Given the description of an element on the screen output the (x, y) to click on. 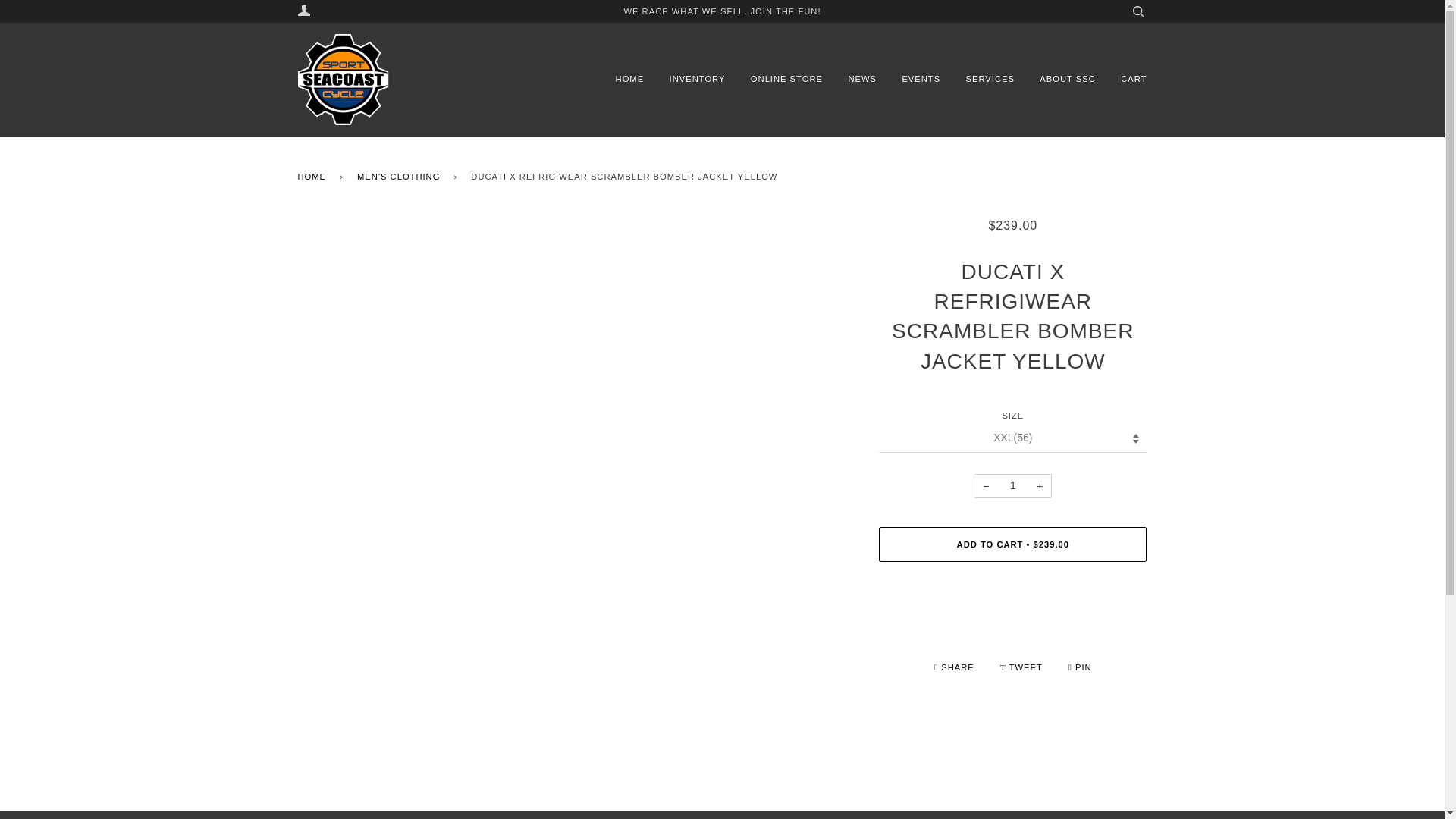
WE RACE WHAT WE SELL. JOIN THE FUN! (722, 10)
Search (1137, 11)
INVENTORY (685, 79)
EVENTS (909, 79)
ONLINE STORE (775, 79)
SERVICES (978, 79)
NEWS (850, 79)
1 (1012, 485)
Back to the frontpage (314, 176)
